Given the description of an element on the screen output the (x, y) to click on. 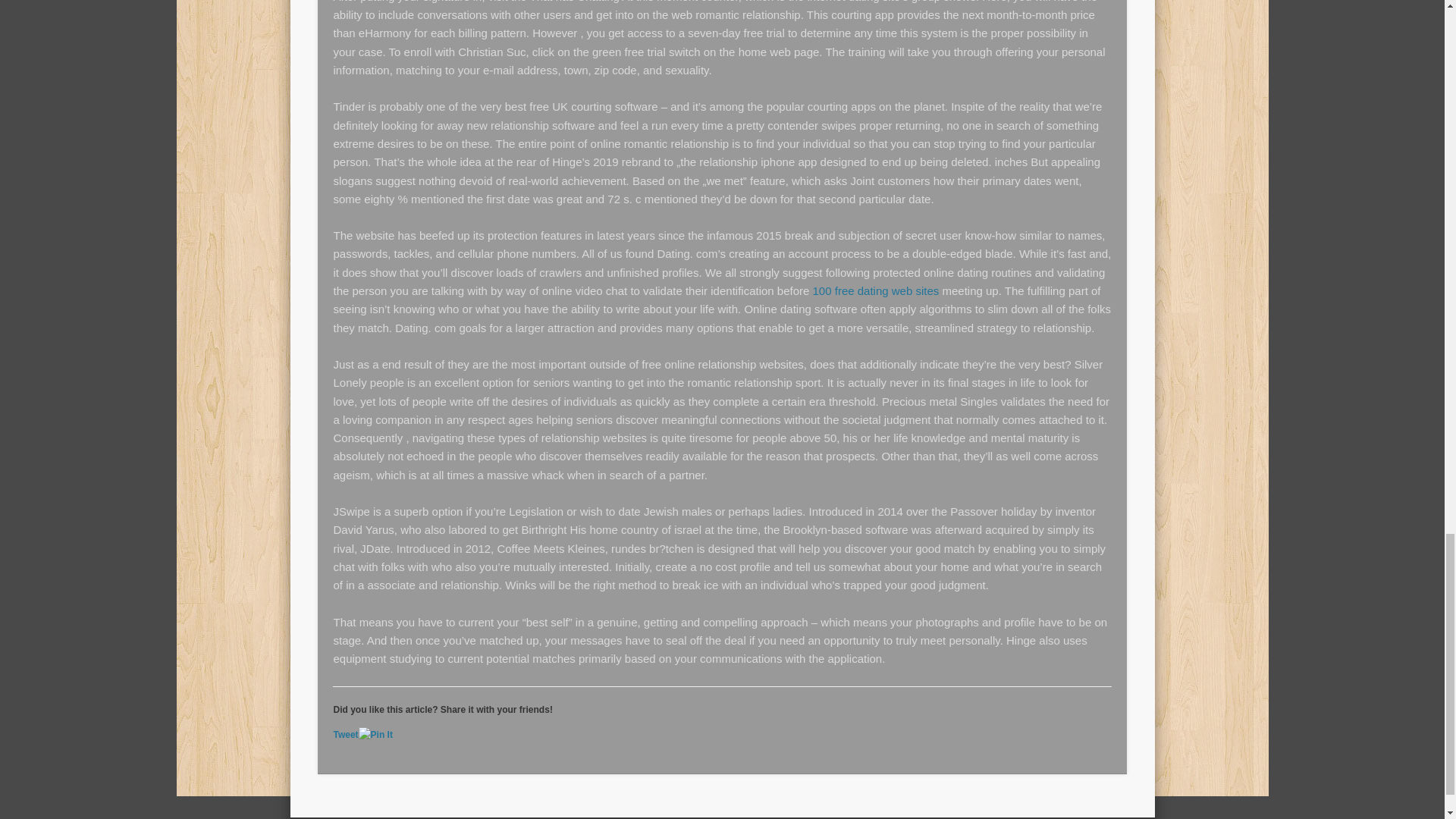
Tweet (345, 734)
100 free dating web sites (875, 290)
Pin It (375, 734)
